Given the description of an element on the screen output the (x, y) to click on. 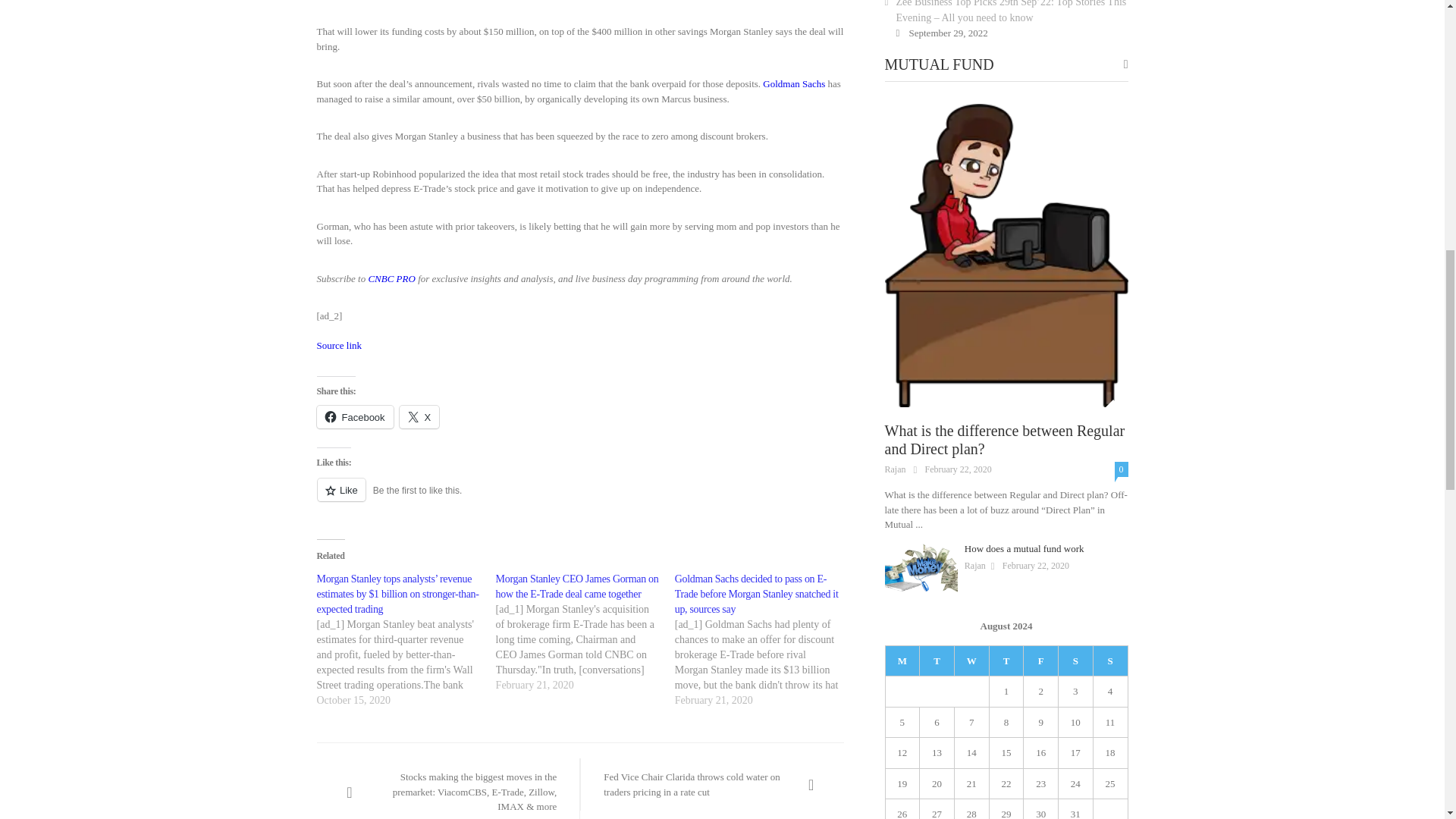
Click to share on X (418, 416)
Click to share on Facebook (355, 416)
Facebook (355, 416)
Source link (339, 345)
Like or Reblog (580, 498)
